Given the description of an element on the screen output the (x, y) to click on. 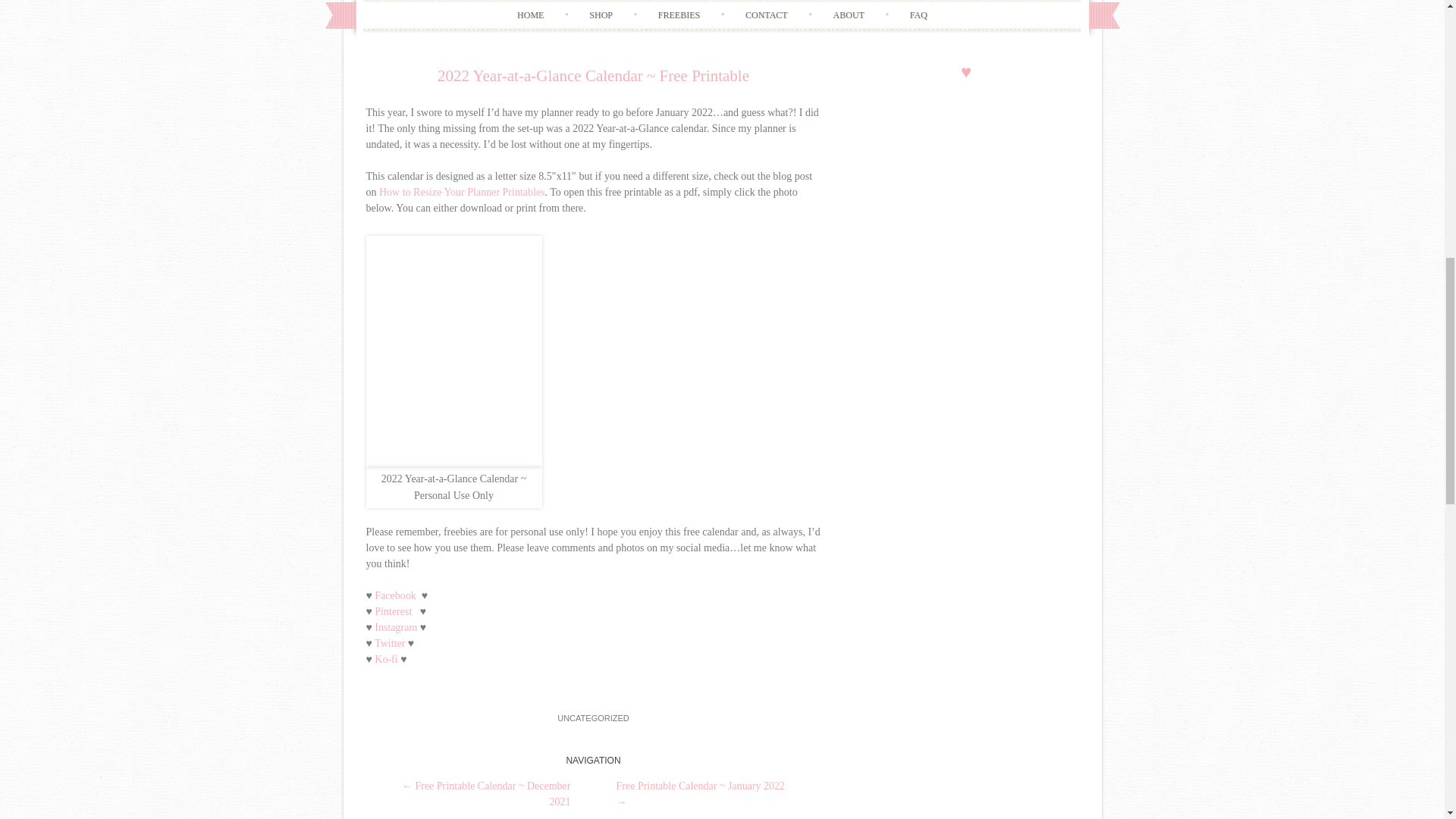
ABOUT (848, 14)
HOME (530, 14)
CONTACT (766, 14)
SHOP (600, 14)
FAQ (917, 14)
Instagram (395, 627)
Pinterest (393, 611)
Facebook (394, 595)
Ko-fi (385, 659)
How to Resize Your Planner Printables (461, 192)
